Given the description of an element on the screen output the (x, y) to click on. 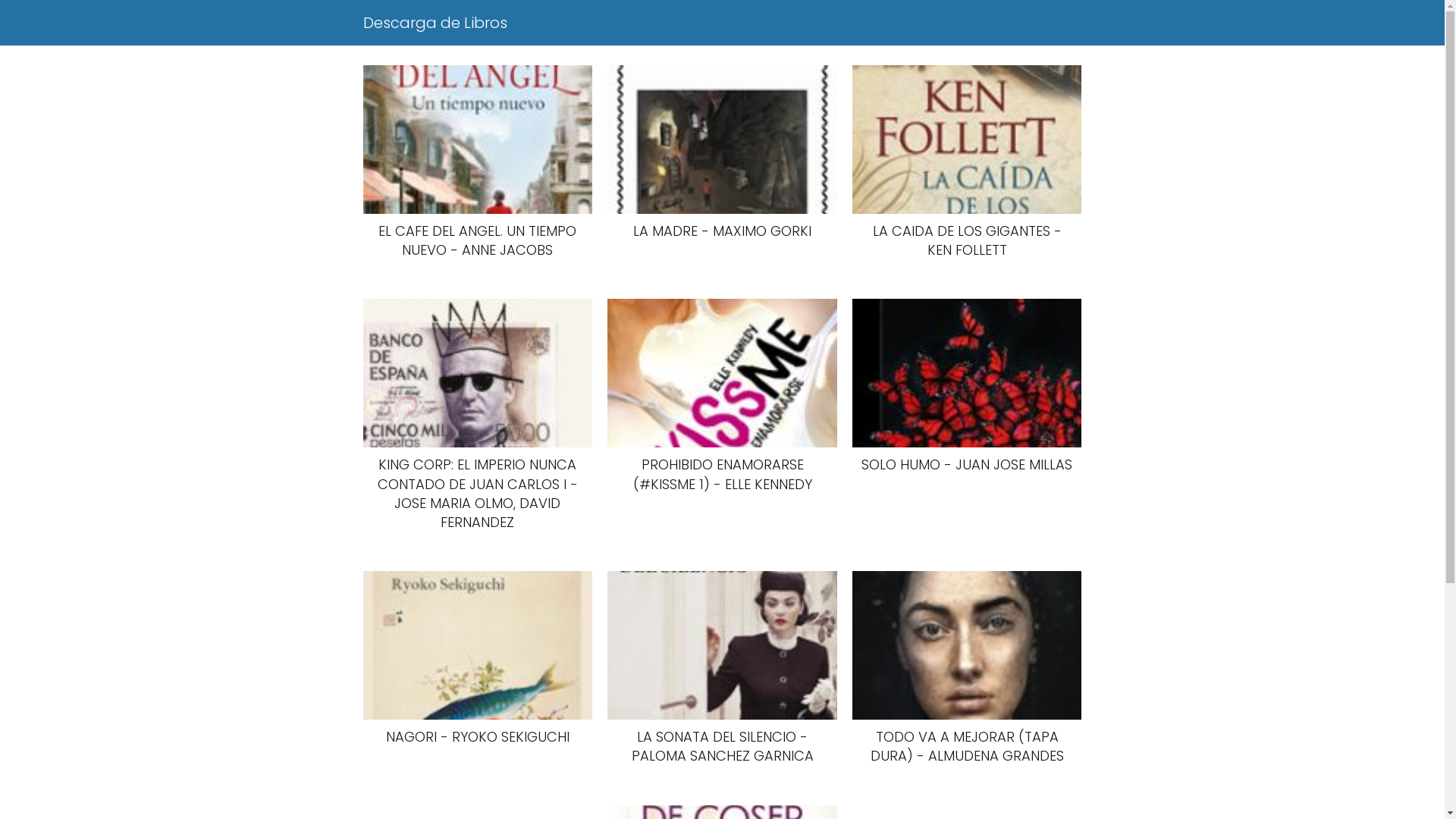
LA CAIDA DE LOS GIGANTES - KEN FOLLETT Element type: text (967, 162)
SOLO HUMO - JUAN JOSE MILLAS Element type: text (967, 385)
Descarga de Libros Element type: text (434, 22)
TODO VA A MEJORAR (TAPA DURA) - ALMUDENA GRANDES Element type: text (967, 668)
LA SONATA DEL SILENCIO - PALOMA SANCHEZ GARNICA Element type: text (722, 668)
PROHIBIDO ENAMORARSE (#KISSME 1) - ELLE KENNEDY Element type: text (722, 395)
LA MADRE - MAXIMO GORKI Element type: text (722, 152)
EL CAFE DEL ANGEL. UN TIEMPO NUEVO - ANNE JACOBS Element type: text (478, 162)
NAGORI - RYOKO SEKIGUCHI Element type: text (478, 658)
